Given the description of an element on the screen output the (x, y) to click on. 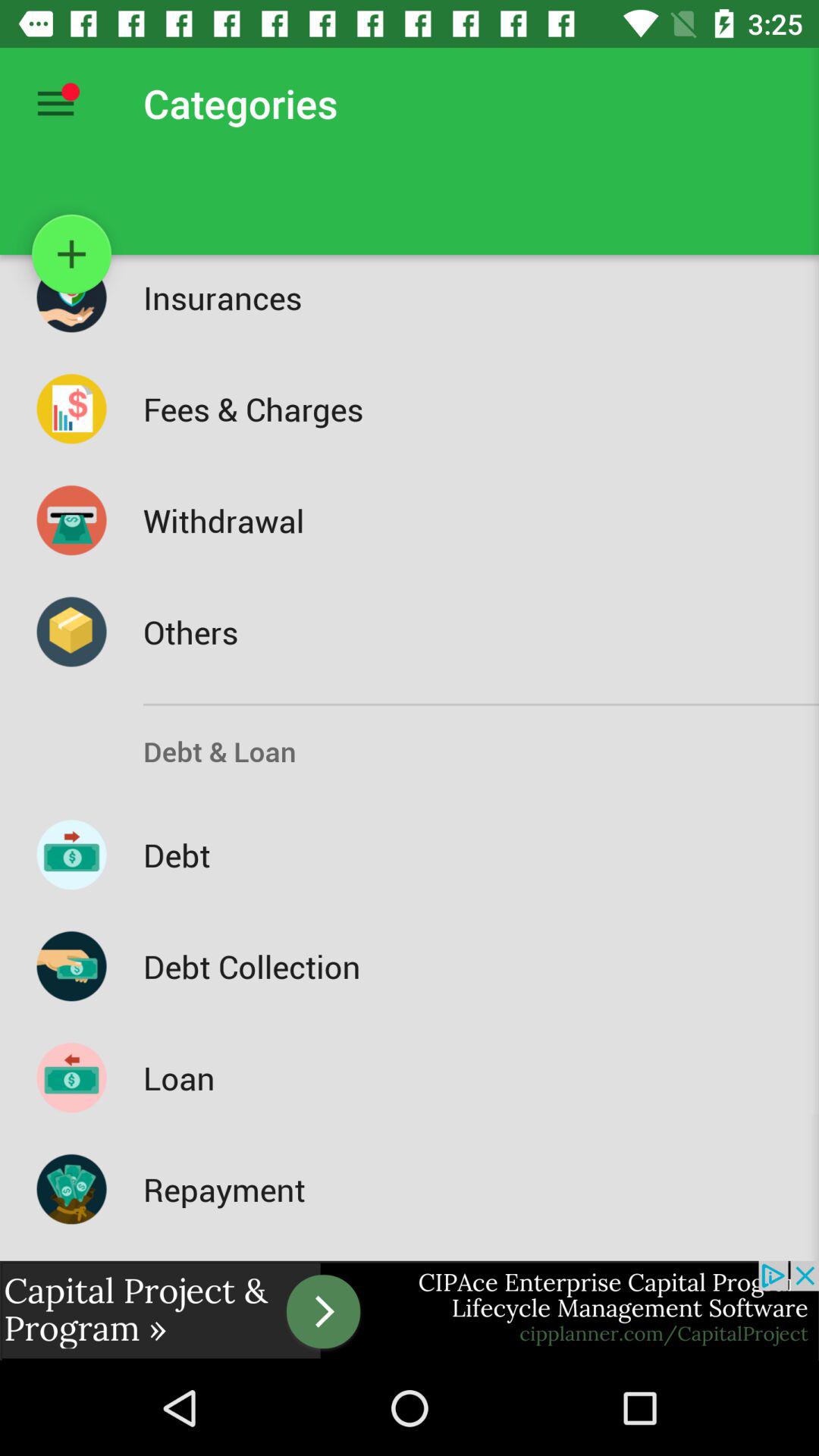
settings bar (55, 103)
